Given the description of an element on the screen output the (x, y) to click on. 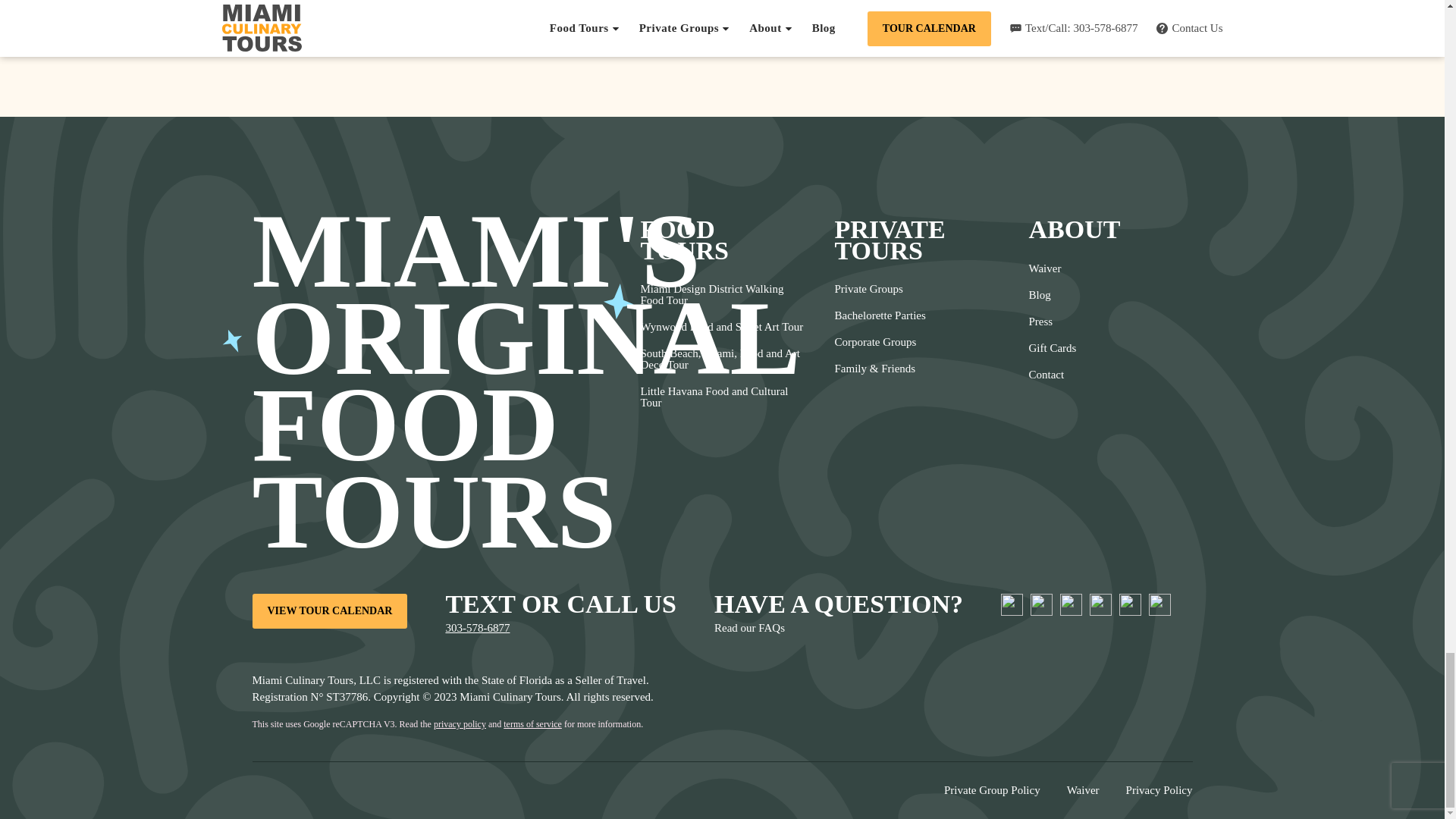
South Beach, Miami, Food and Art Deco Tour (721, 359)
Waiver (1051, 268)
Blog (1051, 294)
Private Groups (879, 289)
Press (1051, 321)
Bachelorette Parties (879, 315)
Miami Design District Walking Food Tour (721, 294)
Little Havana Food and Cultural Tour (721, 397)
Corporate Groups (879, 342)
Wynwood Food and Street Art Tour (721, 326)
